Given the description of an element on the screen output the (x, y) to click on. 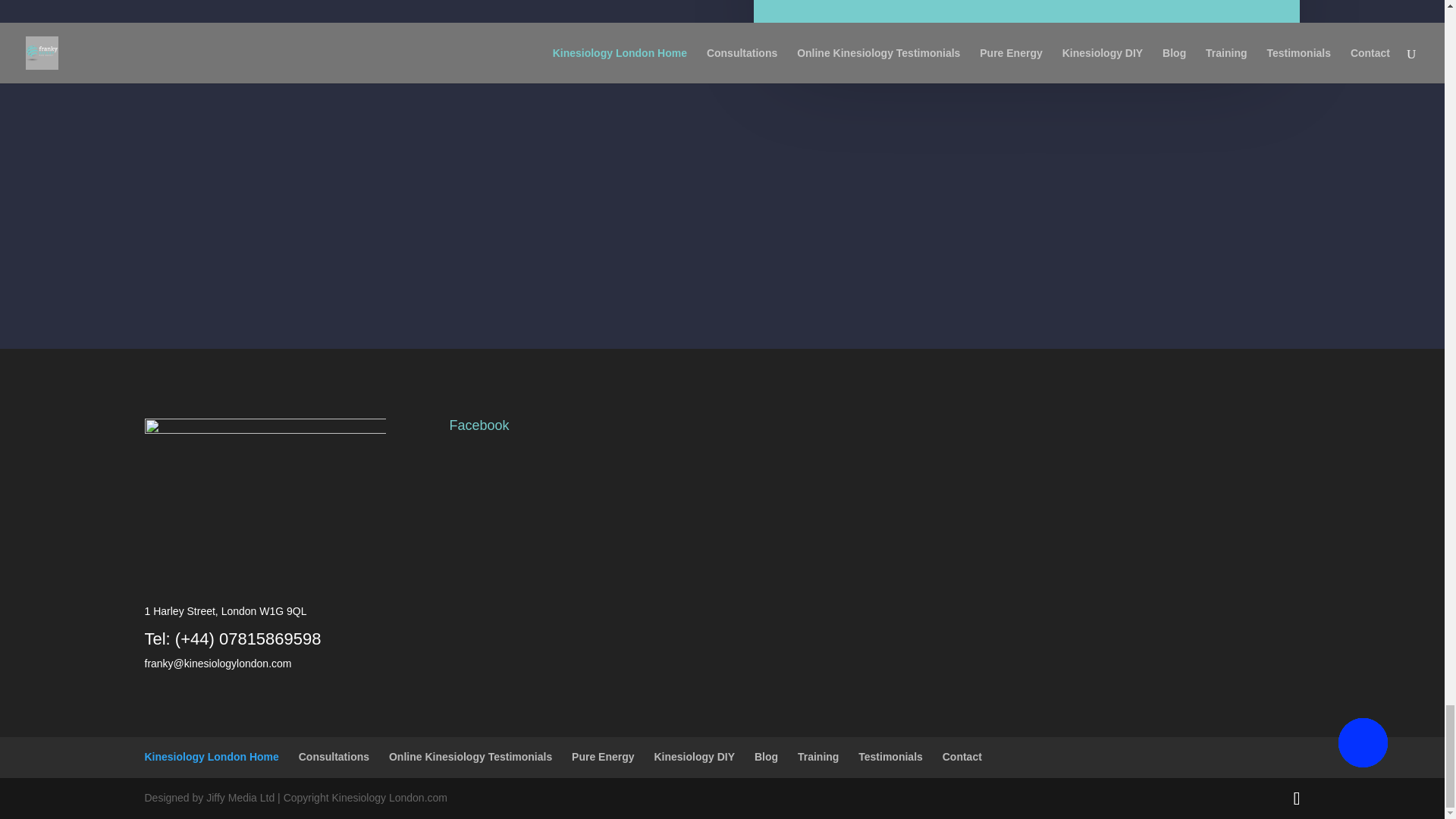
Blog (765, 756)
Consultations (333, 756)
Pure Energy (602, 756)
Contact (961, 756)
Kinesiology London Home (211, 756)
Testimonials (891, 756)
Online Kinesiology Testimonials (469, 756)
Training (817, 756)
Kinesiology DIY (694, 756)
